Given the description of an element on the screen output the (x, y) to click on. 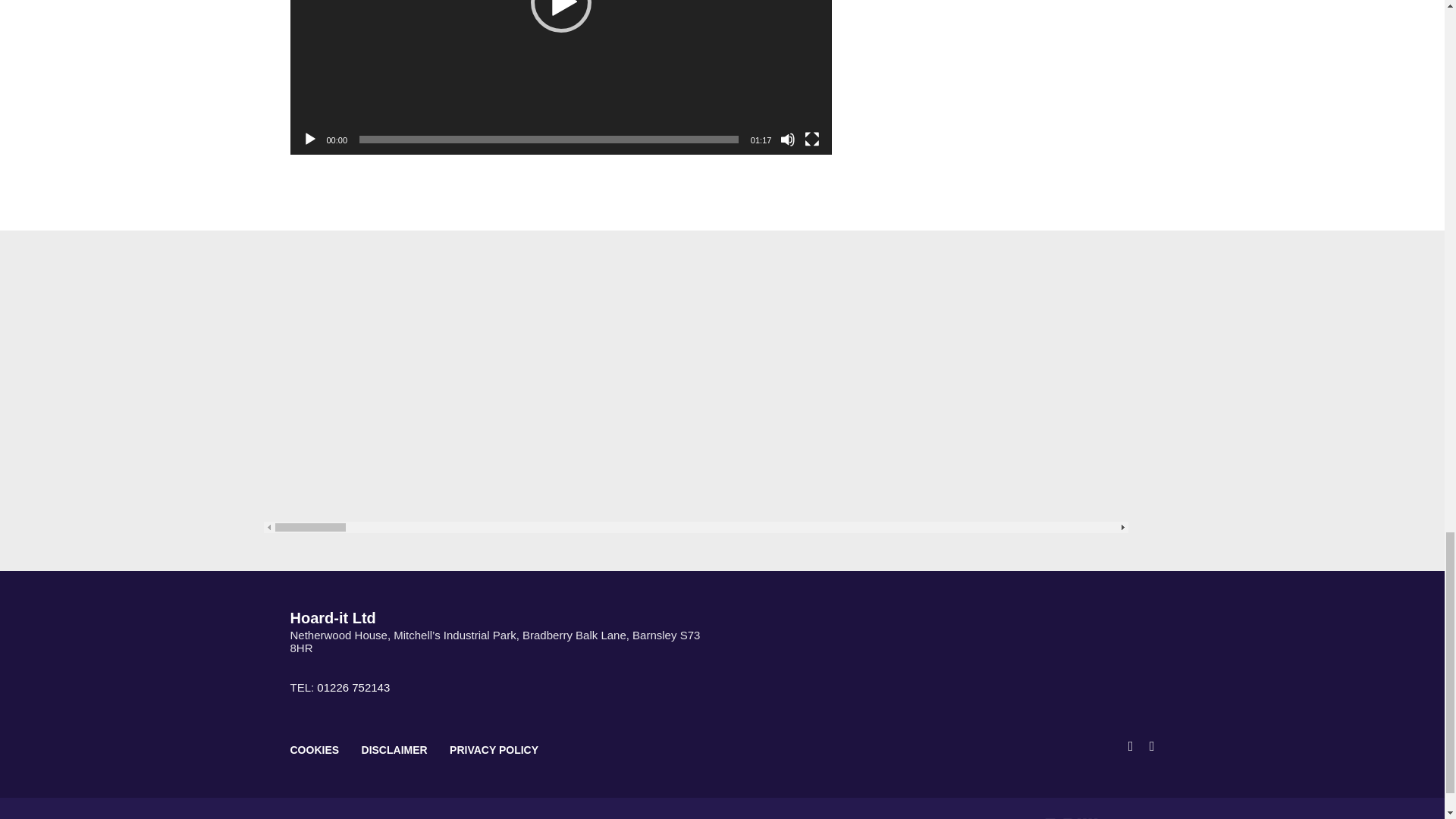
Play (309, 139)
Fullscreen (812, 139)
Mute (787, 139)
